Given the description of an element on the screen output the (x, y) to click on. 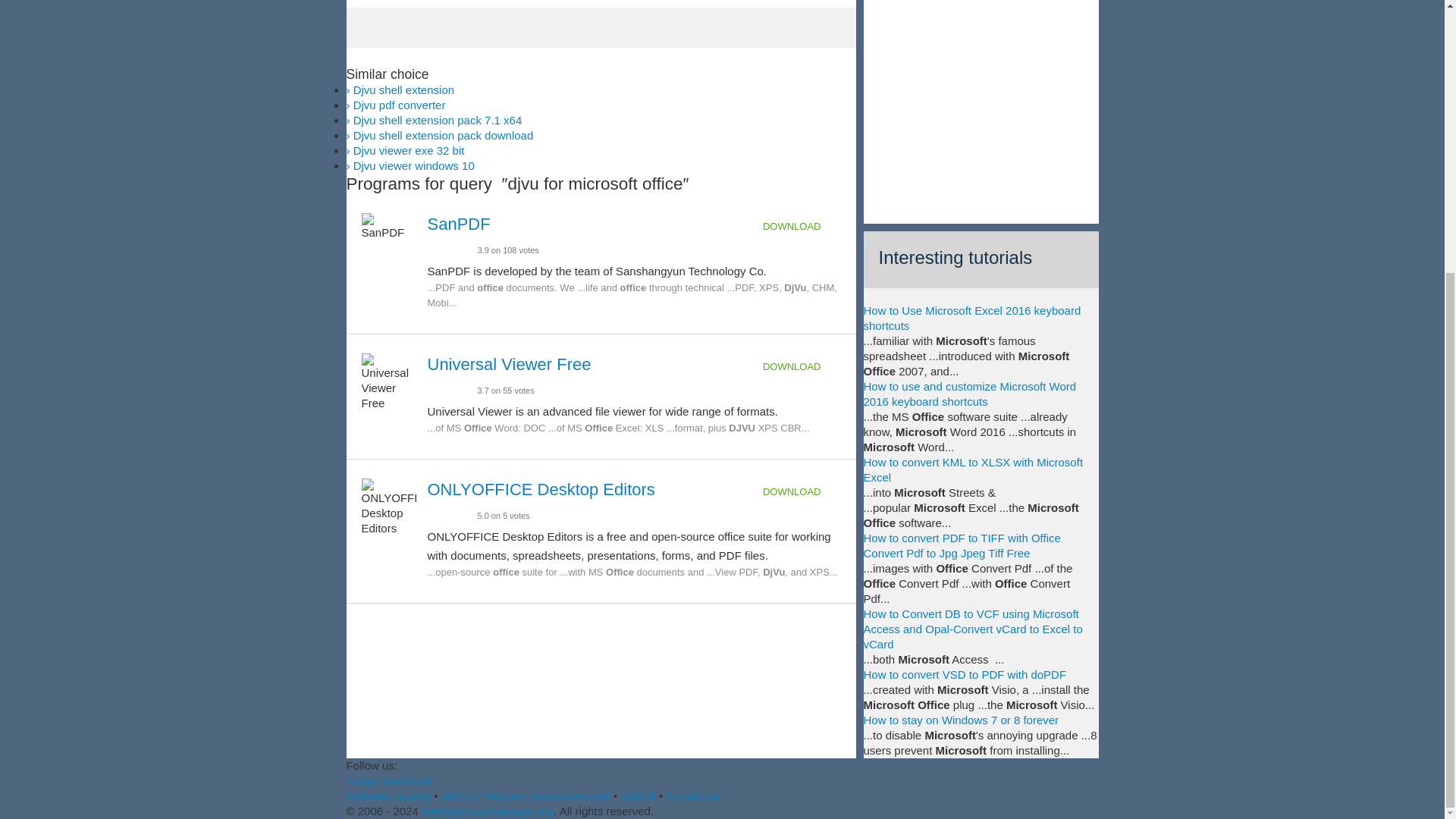
SanPDF (459, 223)
How to Use Microsoft Excel 2016 keyboard shortcuts (971, 317)
DOWNLOAD (801, 491)
DOWNLOAD (801, 366)
How to convert KML to XLSX with Microsoft Excel (973, 469)
Universal Viewer Free (509, 363)
SanPDF (459, 223)
Universal Viewer Free (509, 363)
